Given the description of an element on the screen output the (x, y) to click on. 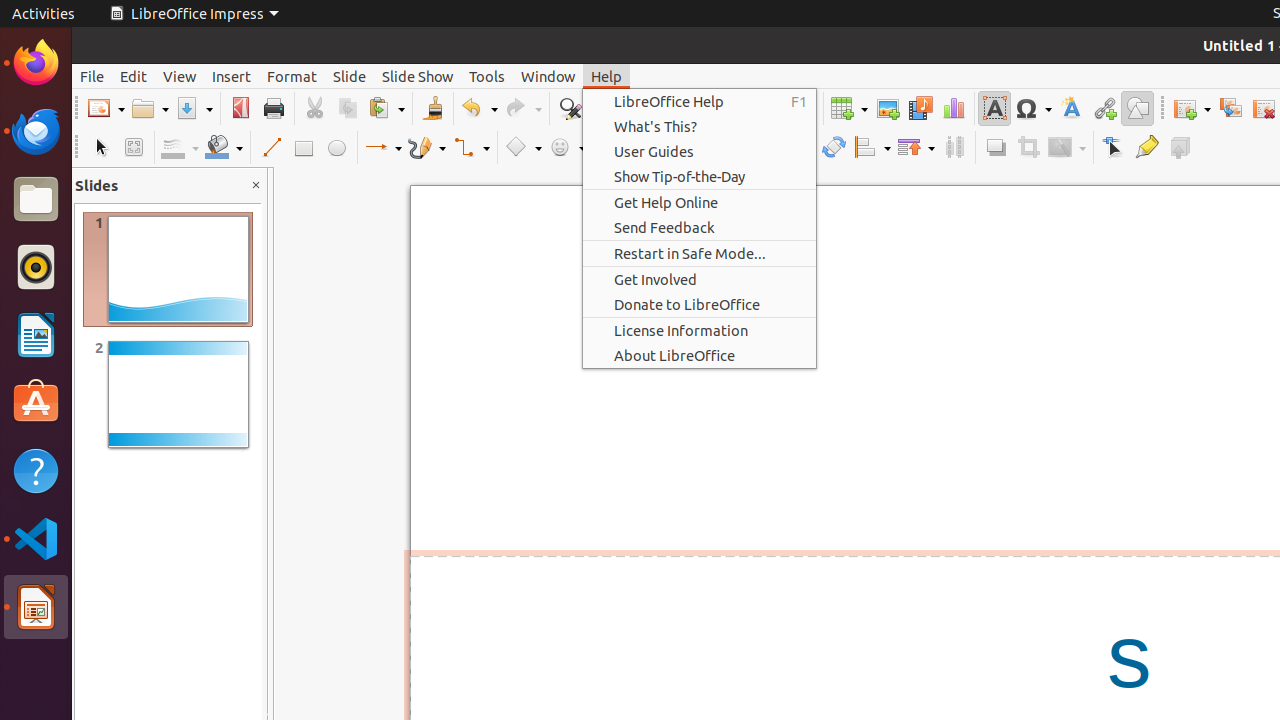
Slide Element type: menu (349, 76)
License Information Element type: menu-item (699, 330)
View Element type: menu (179, 76)
User Guides Element type: menu-item (699, 151)
